Given the description of an element on the screen output the (x, y) to click on. 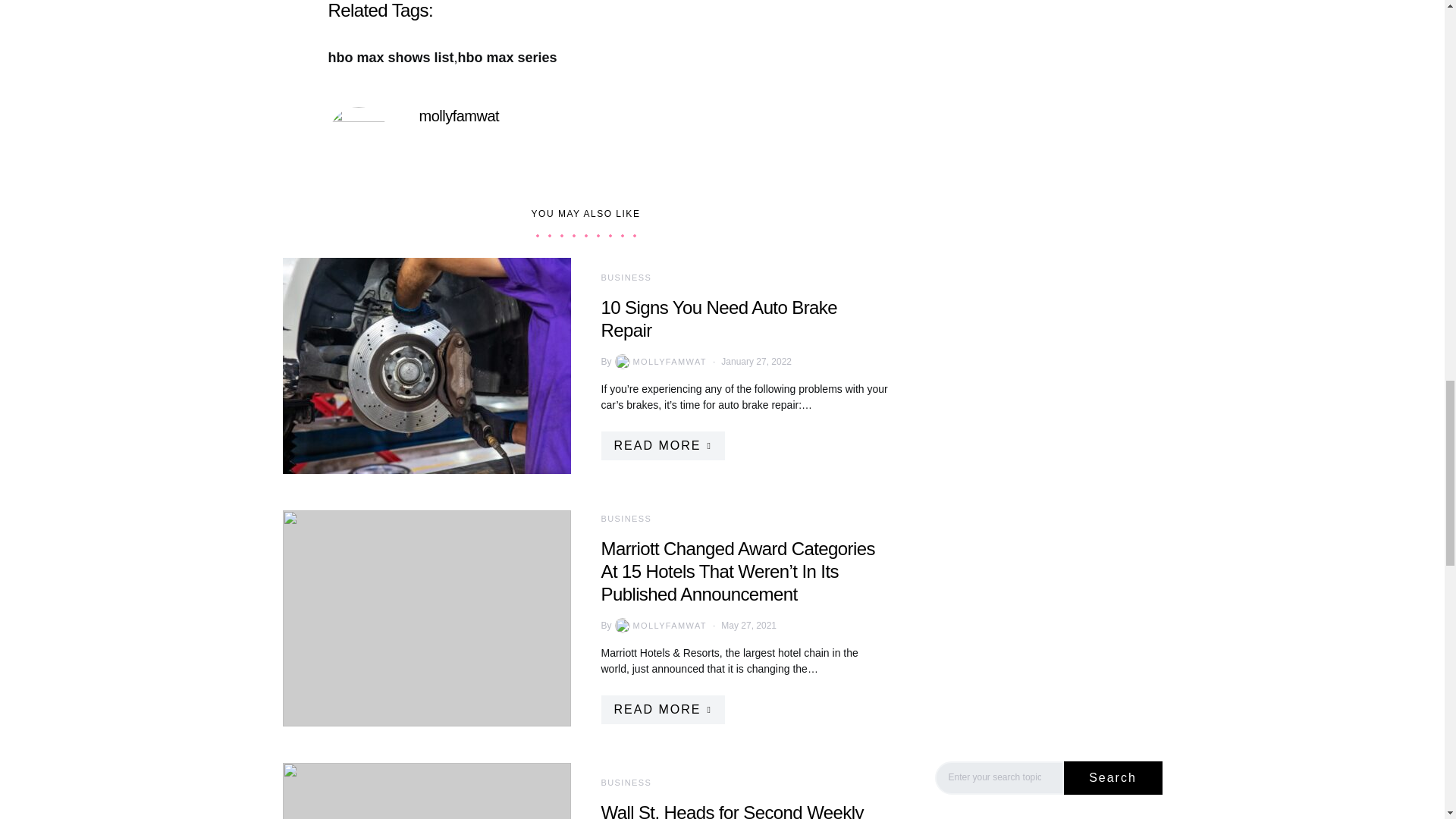
View all posts by mollyfamwat (658, 625)
View all posts by mollyfamwat (658, 361)
mollyfamwat (459, 115)
